Given the description of an element on the screen output the (x, y) to click on. 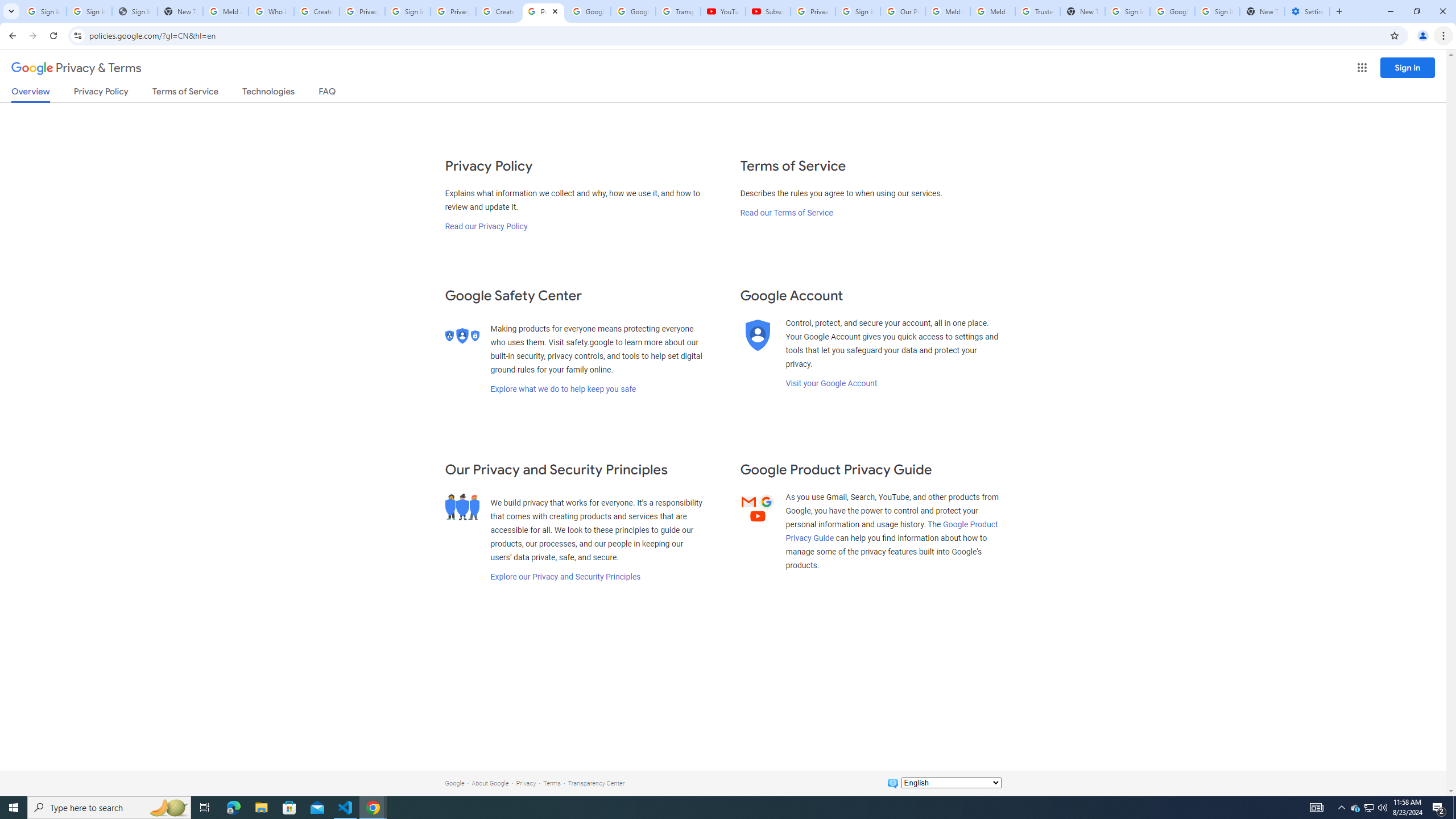
Settings - Addresses and more (1307, 11)
Google Product Privacy Guide (891, 530)
Trusted Information and Content - Google Safety Center (1037, 11)
Transparency Center (595, 783)
Sign in - Google Accounts (1126, 11)
